Given the description of an element on the screen output the (x, y) to click on. 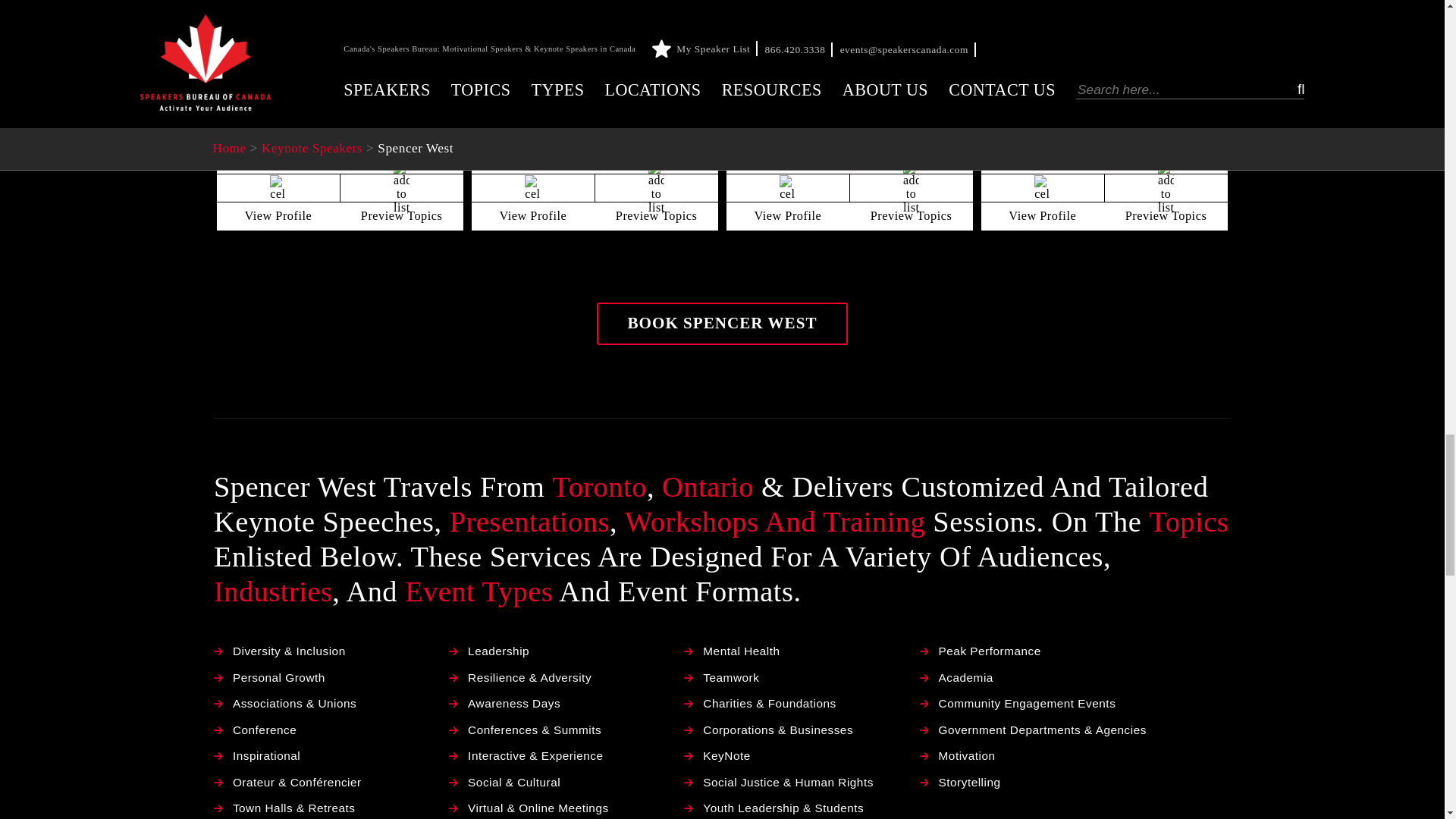
Hassan Al Kontar (594, 35)
Deri Latimer (339, 35)
Isabelle Mercier Turcotte (849, 35)
Jackie Rainforth (1104, 35)
